Given the description of an element on the screen output the (x, y) to click on. 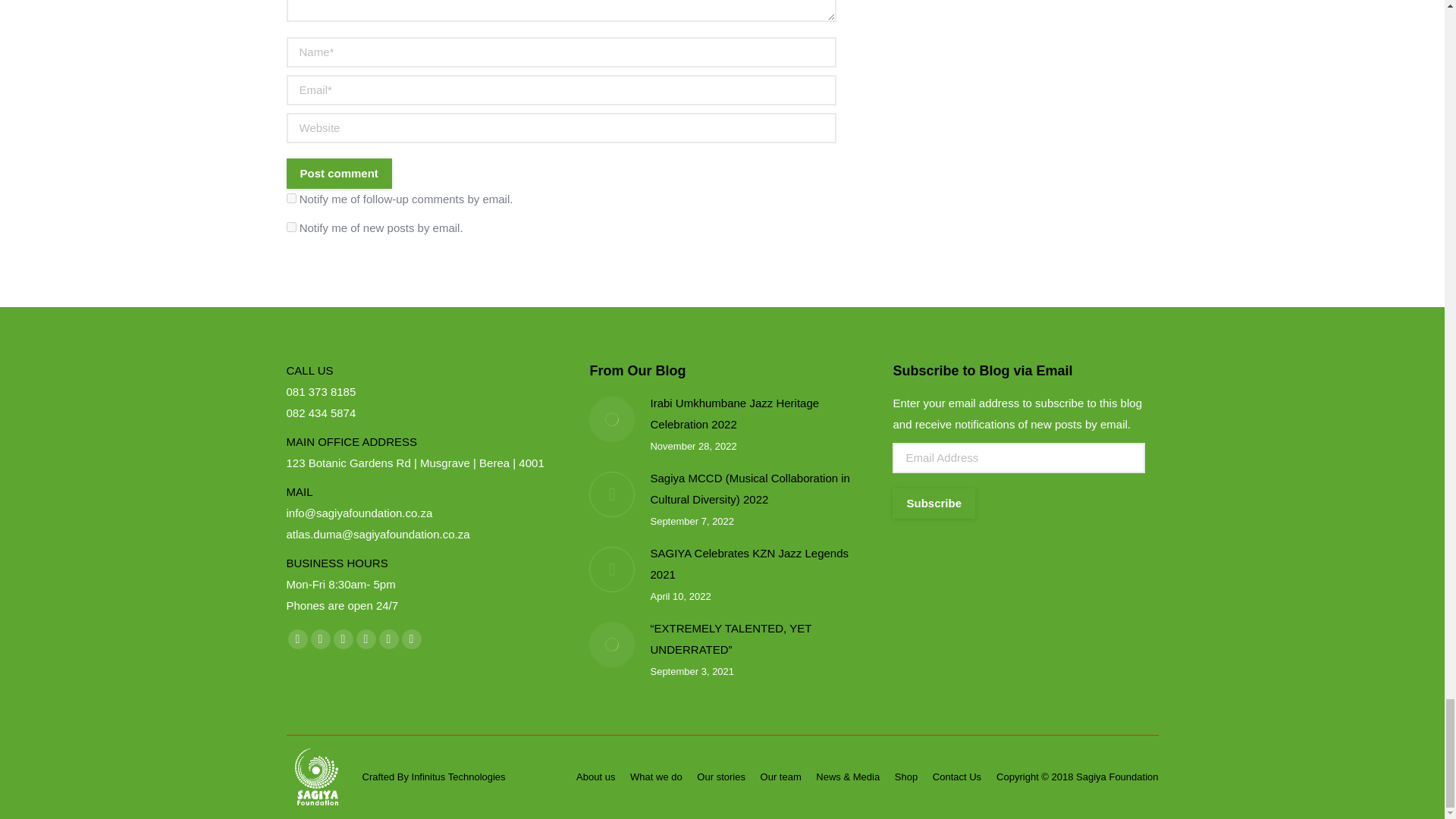
Subscribe (933, 502)
subscribe (291, 198)
subscribe (291, 226)
